Given the description of an element on the screen output the (x, y) to click on. 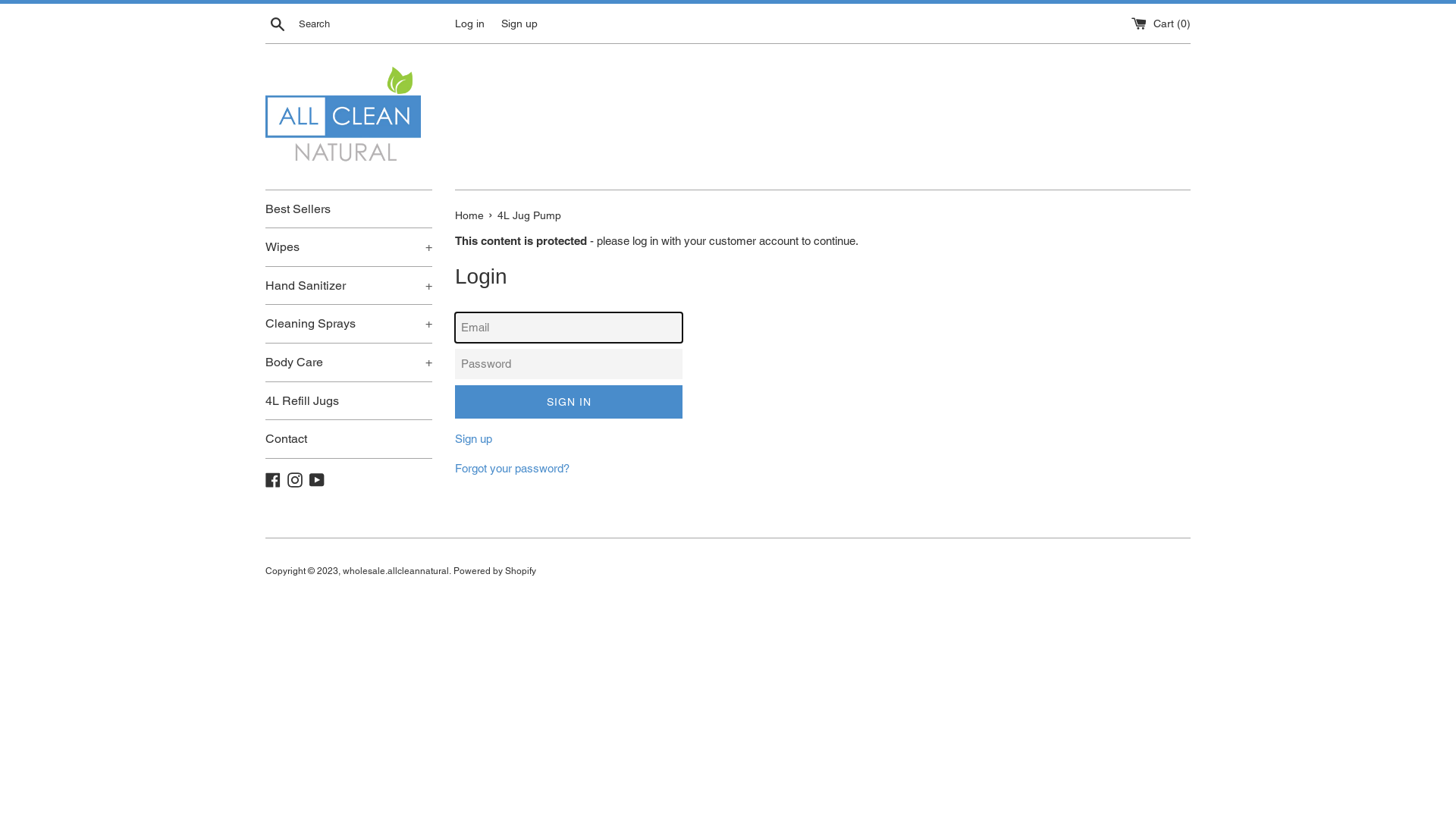
YouTube Element type: text (316, 478)
Facebook Element type: text (272, 478)
Forgot your password? Element type: text (512, 467)
Sign up Element type: text (519, 22)
Log in Element type: text (469, 22)
Contact Element type: text (348, 439)
Cleaning Sprays
+ Element type: text (348, 323)
Search Element type: text (277, 23)
Instagram Element type: text (294, 478)
Cart (0) Element type: text (1160, 22)
Sign up Element type: text (473, 438)
Best Sellers Element type: text (348, 209)
4L Refill Jugs Element type: text (348, 401)
Body Care
+ Element type: text (348, 362)
Hand Sanitizer
+ Element type: text (348, 285)
Wipes
+ Element type: text (348, 247)
Sign In Element type: text (568, 402)
Home Element type: text (470, 215)
wholesale.allcleannatural Element type: text (395, 570)
Powered by Shopify Element type: text (494, 570)
